Given the description of an element on the screen output the (x, y) to click on. 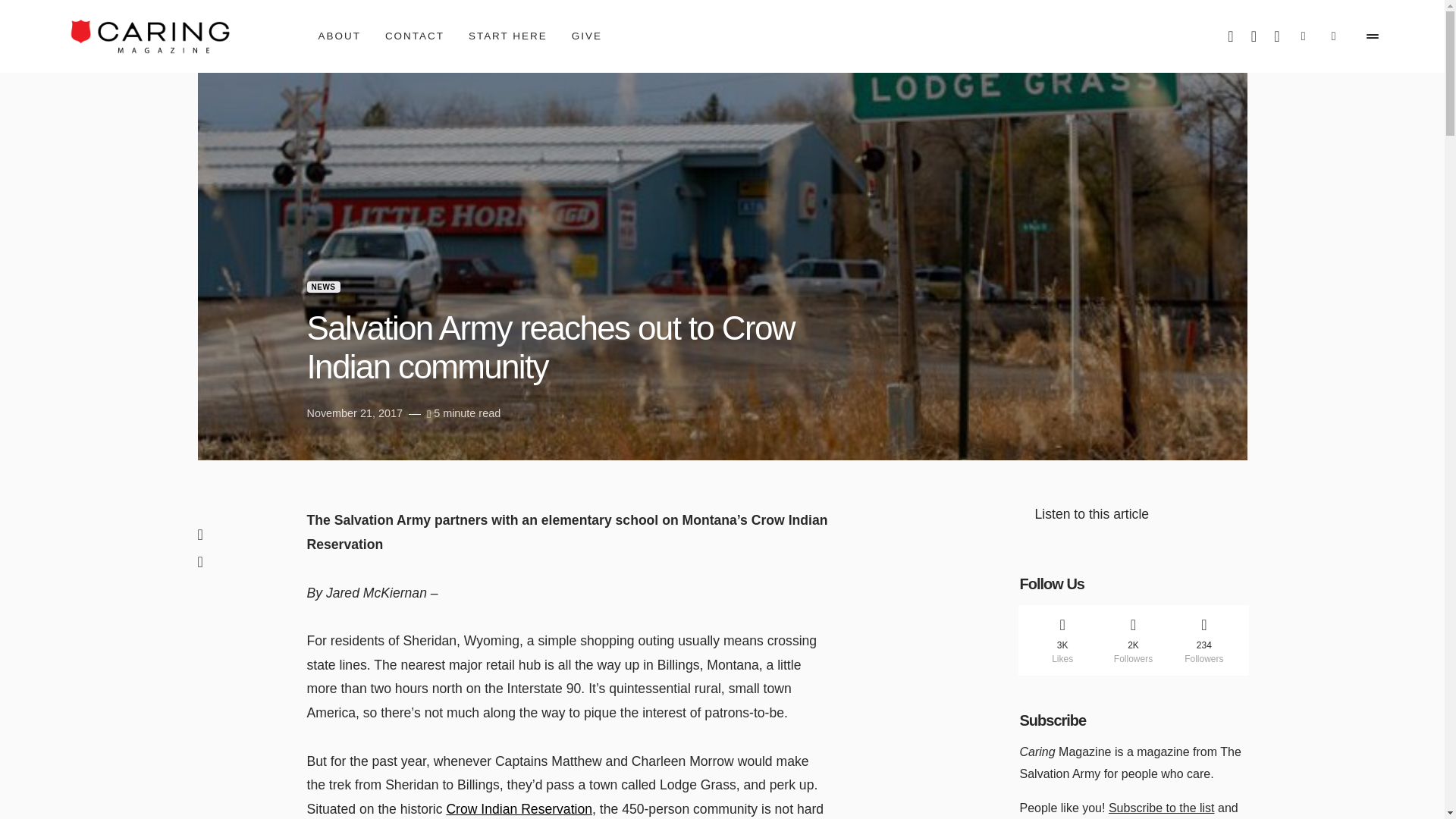
ABOUT (339, 36)
CONTACT (414, 36)
GIVE (587, 36)
START HERE (507, 36)
